Given the description of an element on the screen output the (x, y) to click on. 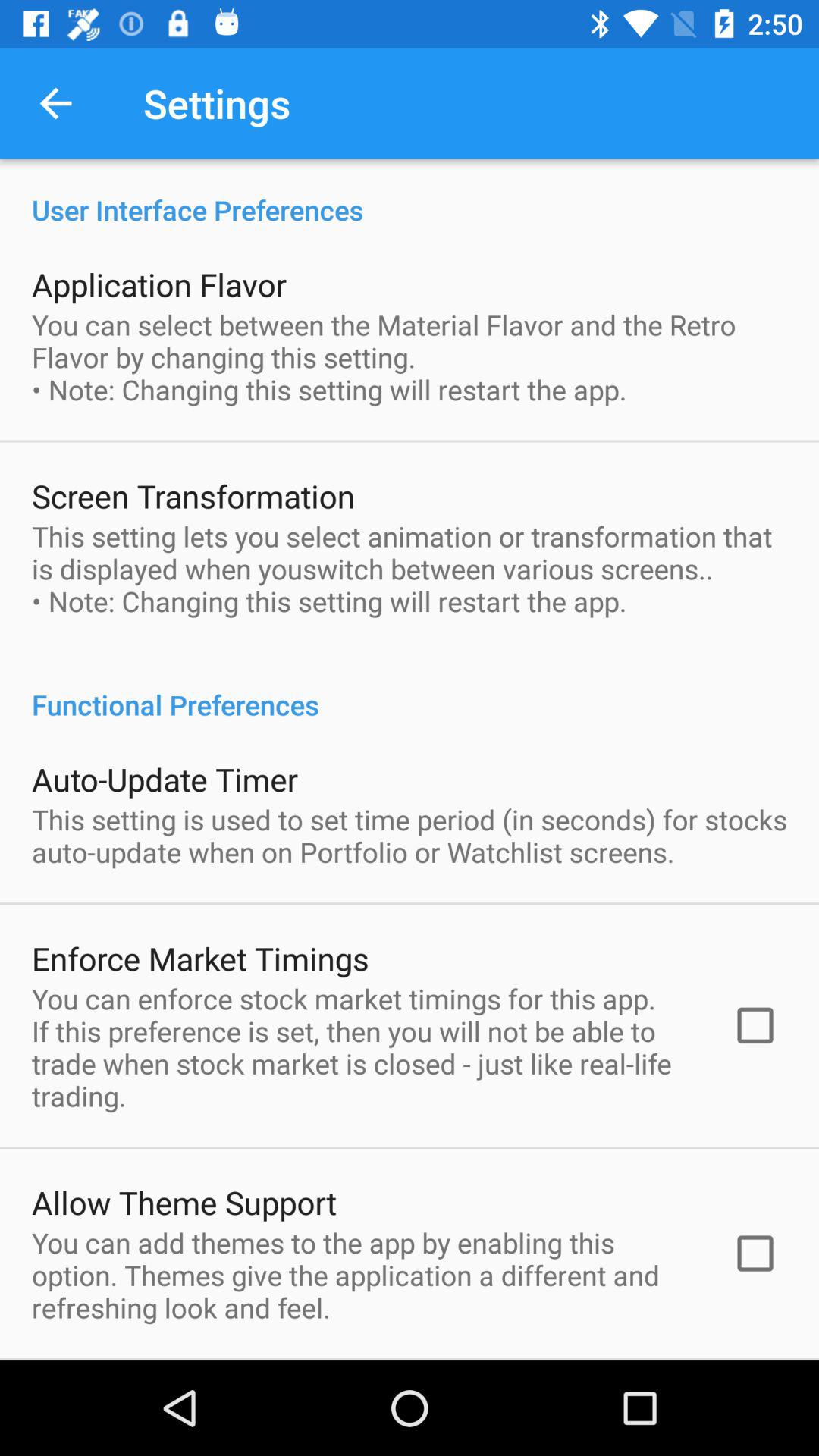
choose icon above this setting lets item (192, 495)
